Given the description of an element on the screen output the (x, y) to click on. 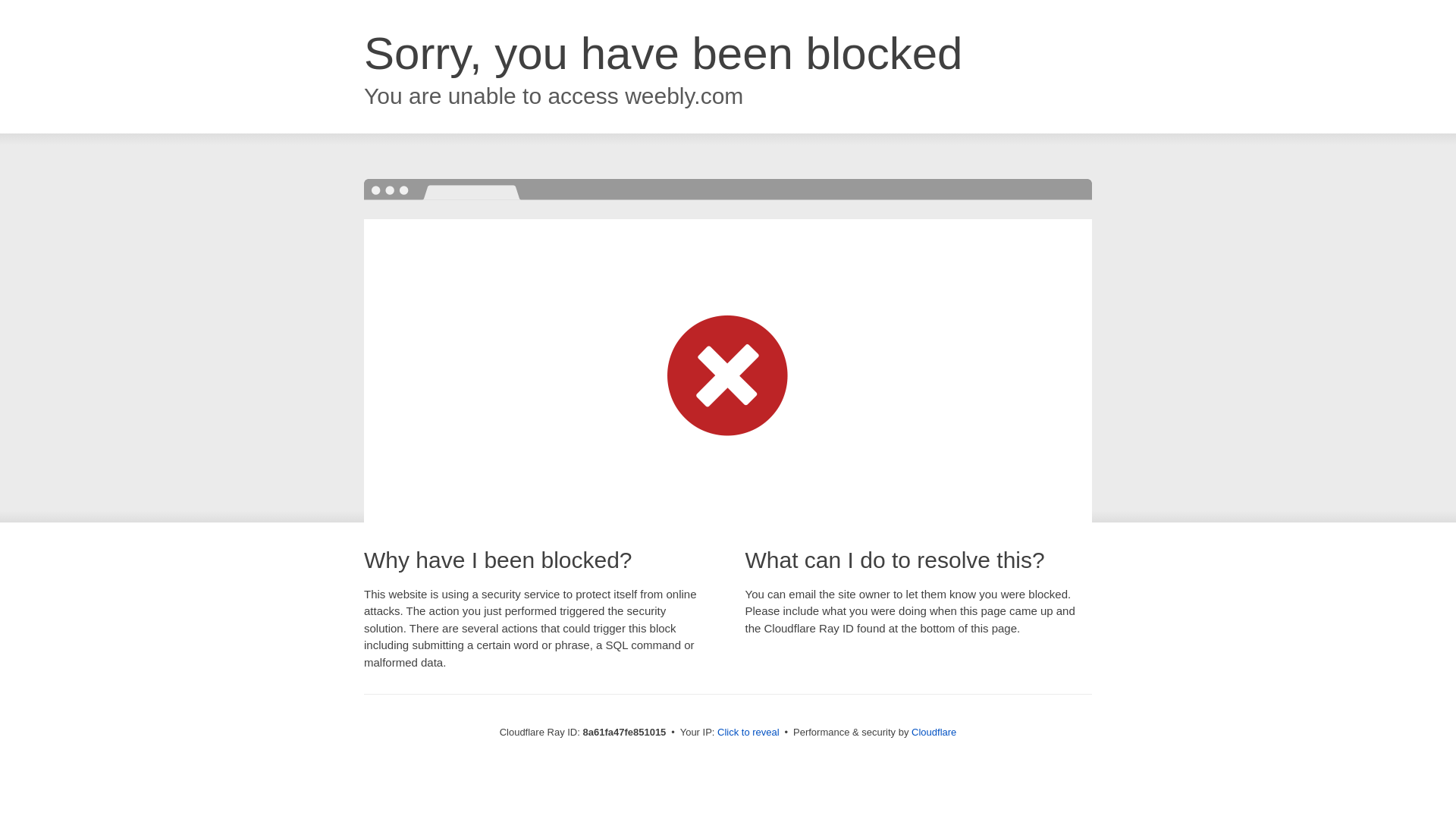
Cloudflare (933, 731)
Click to reveal (747, 732)
